Given the description of an element on the screen output the (x, y) to click on. 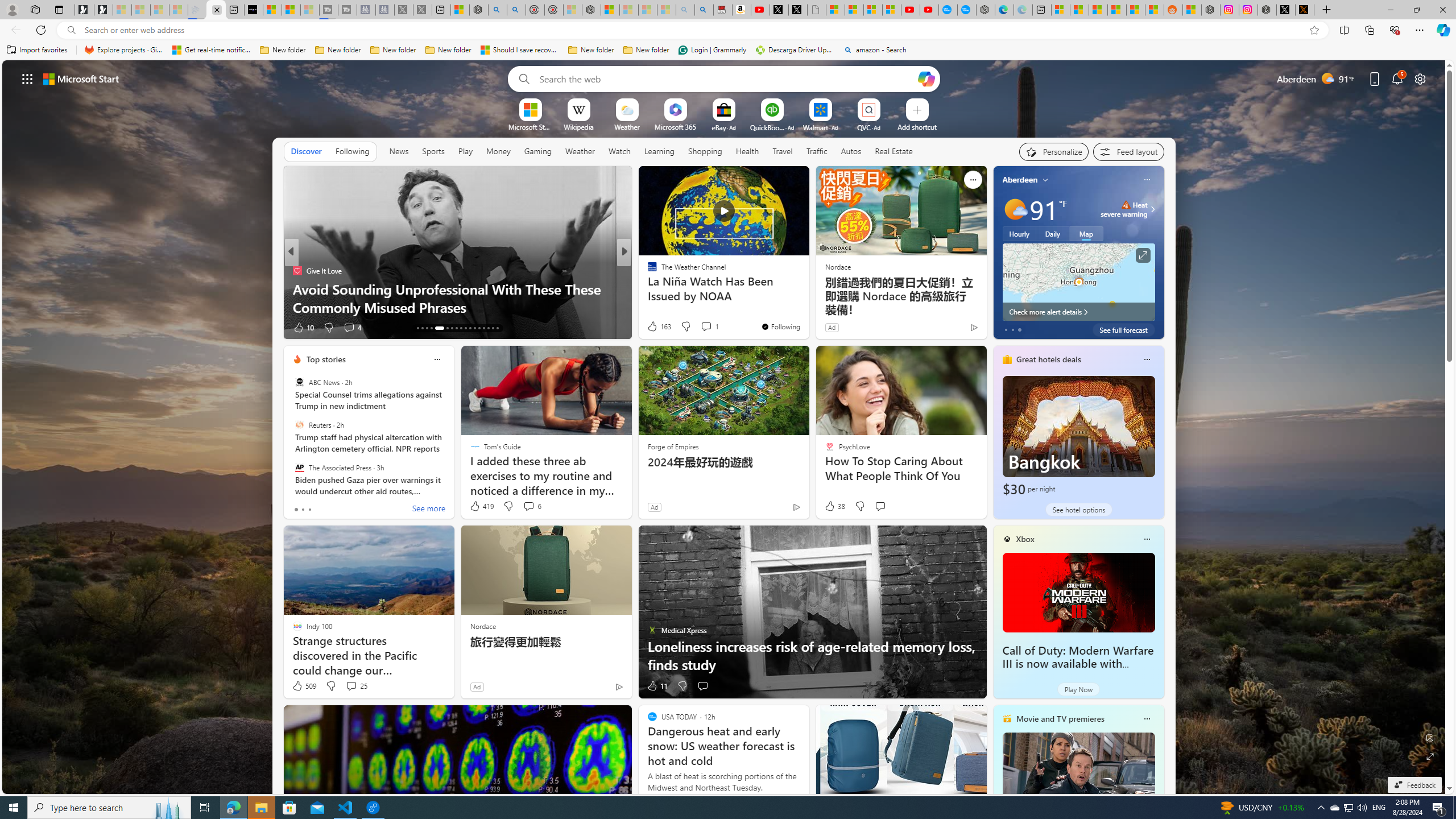
Daily (1052, 233)
Play (465, 151)
The Daily Beast (647, 270)
Should I save recovered Word documents? - Microsoft Support (519, 49)
AutomationID: tab-18 (444, 328)
Autos (851, 151)
